Given the description of an element on the screen output the (x, y) to click on. 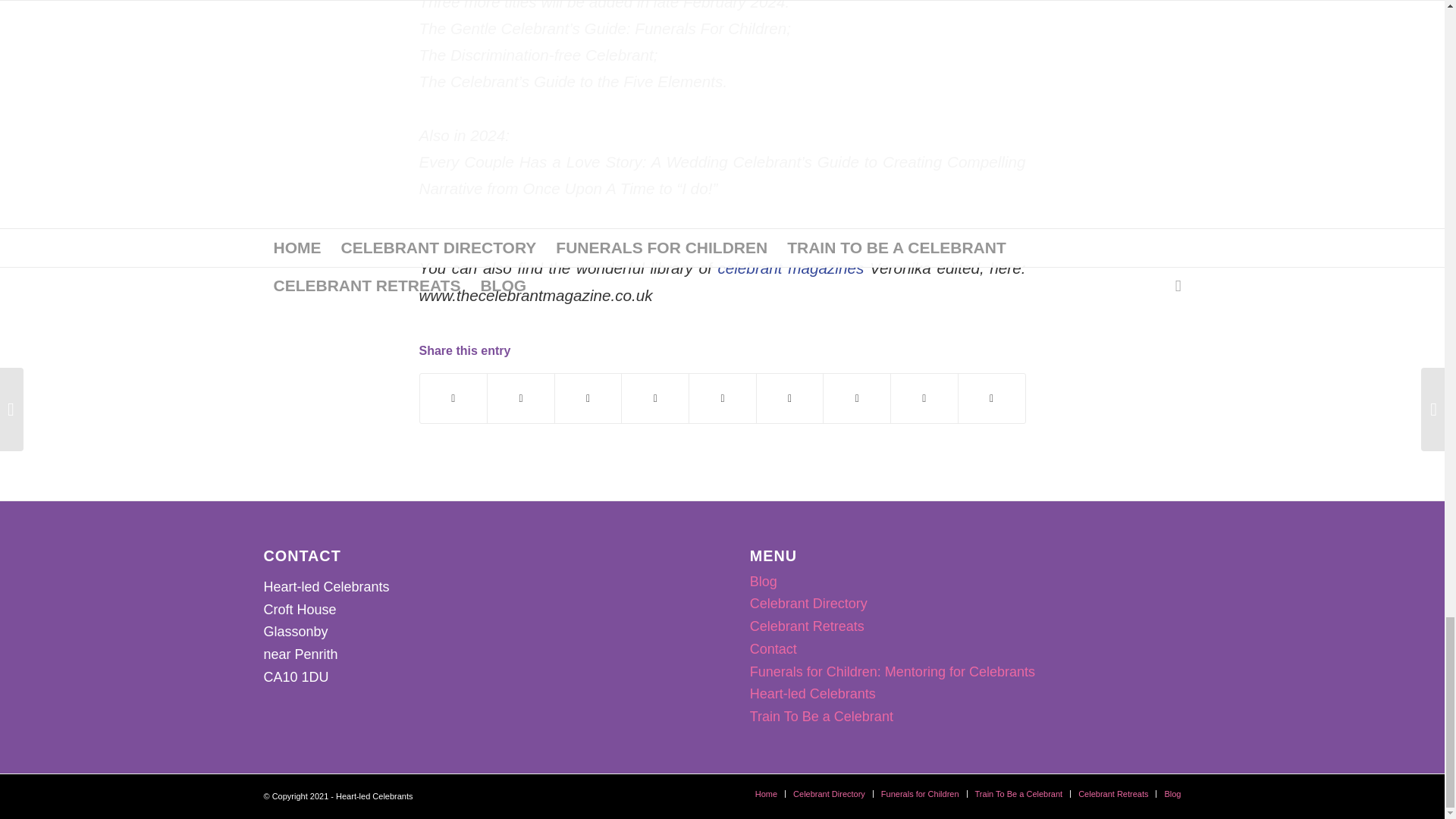
Funerals for Children: Mentoring for Celebrants (892, 671)
celebrant magazines (790, 267)
Train To Be a Celebrant (1018, 793)
Celebrant Directory (808, 603)
Home (766, 793)
Celebrant Retreats (806, 626)
Funerals for Children (919, 793)
Celebrant Retreats (1113, 793)
Contact (772, 648)
Heart-led Celebrants (812, 693)
Blog (763, 581)
Train To Be a Celebrant (821, 716)
Celebrant Directory (828, 793)
